Given the description of an element on the screen output the (x, y) to click on. 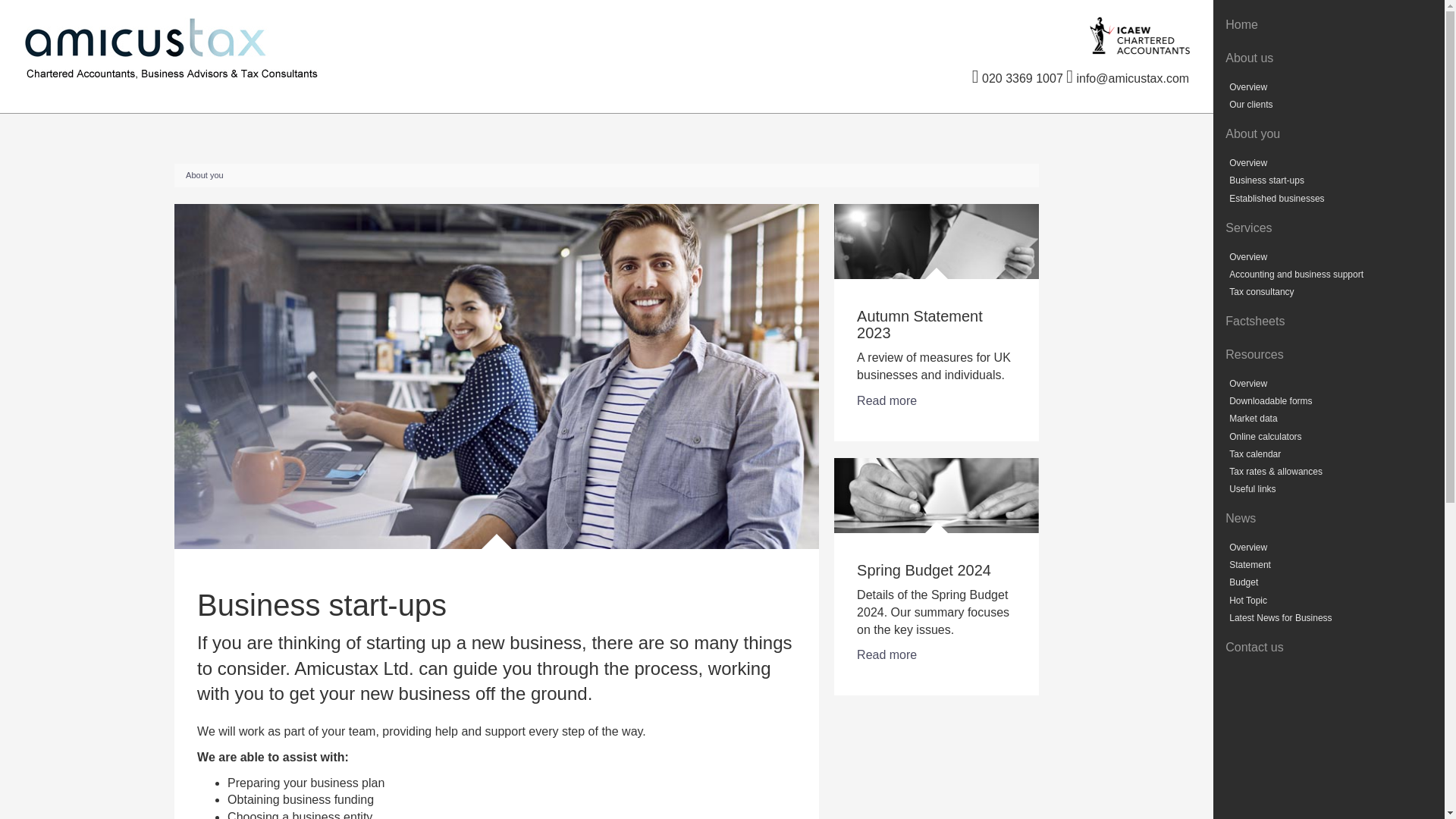
Amicustax, Accountants Fitzrovia, London (262, 47)
020 3369 1007 (1017, 78)
